Given the description of an element on the screen output the (x, y) to click on. 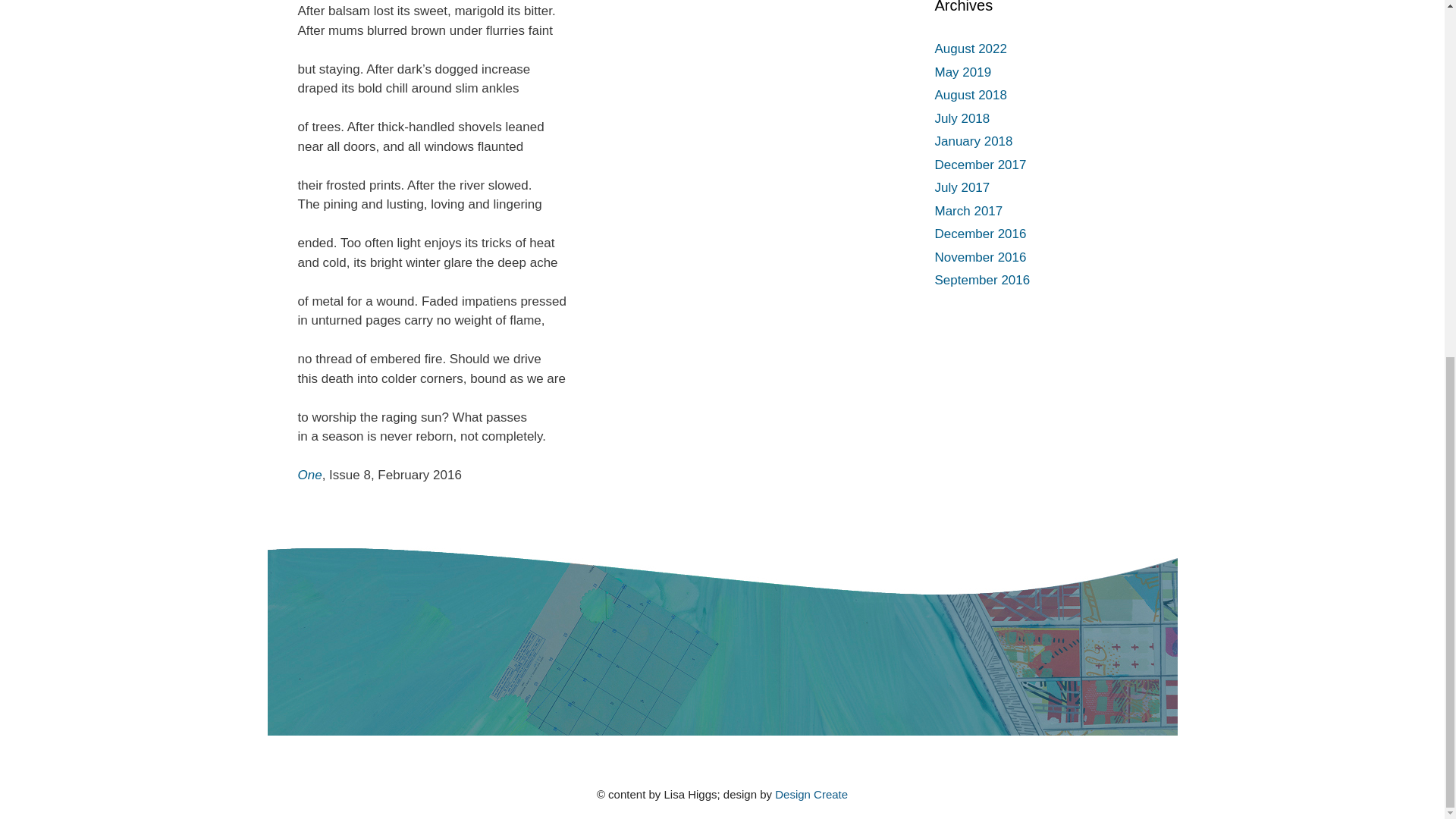
March 2017 (968, 210)
January 2018 (972, 141)
November 2016 (980, 257)
August 2022 (970, 48)
September 2016 (981, 279)
Design Create (810, 793)
July 2017 (962, 187)
December 2016 (980, 233)
July 2018 (962, 117)
August 2018 (970, 94)
May 2019 (962, 72)
One (309, 474)
December 2017 (980, 164)
